Given the description of an element on the screen output the (x, y) to click on. 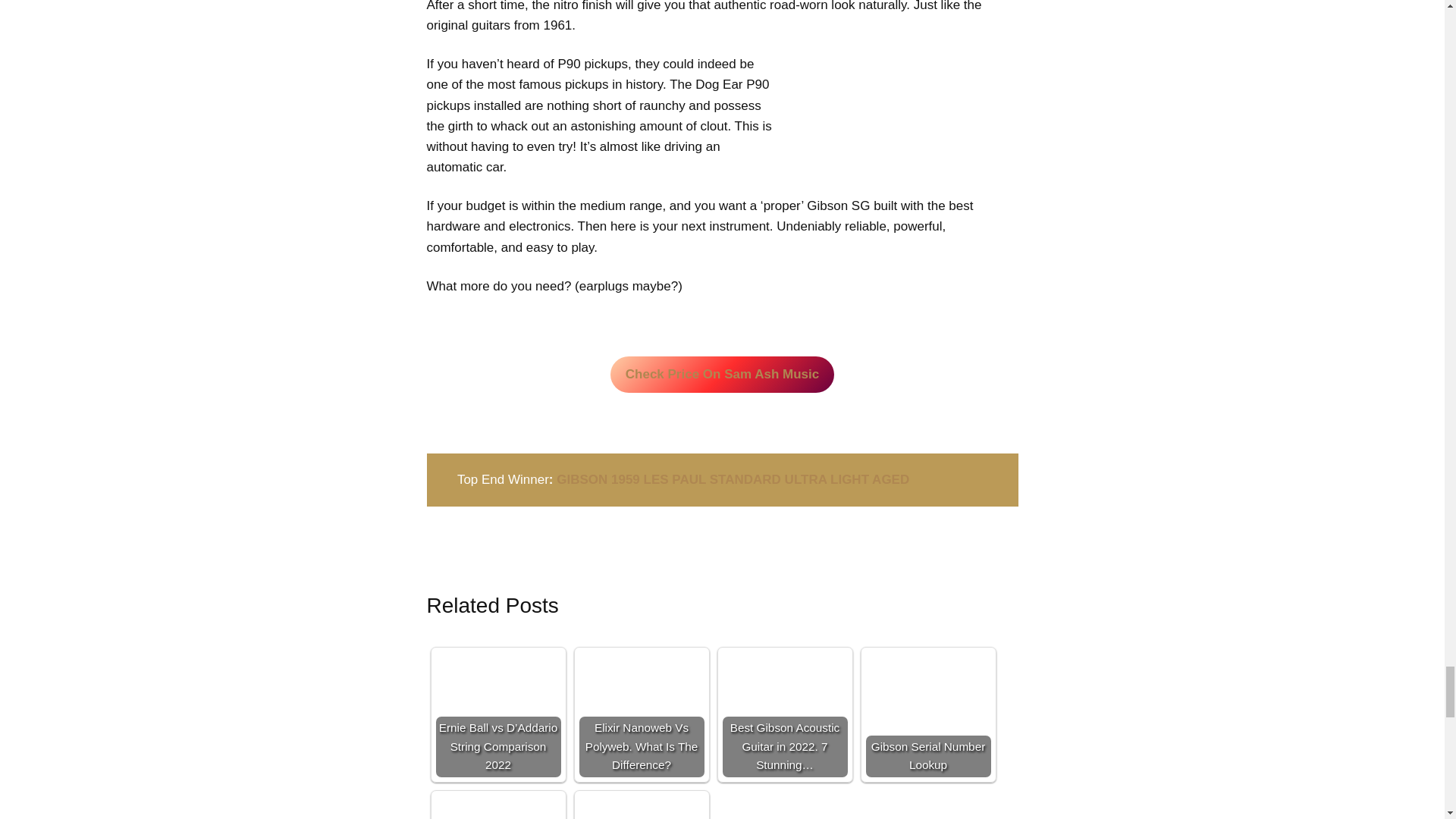
Elixir Nanoweb Vs Polyweb. What Is The Difference? (641, 693)
Gibson Serial Number Lookup (928, 698)
